Given the description of an element on the screen output the (x, y) to click on. 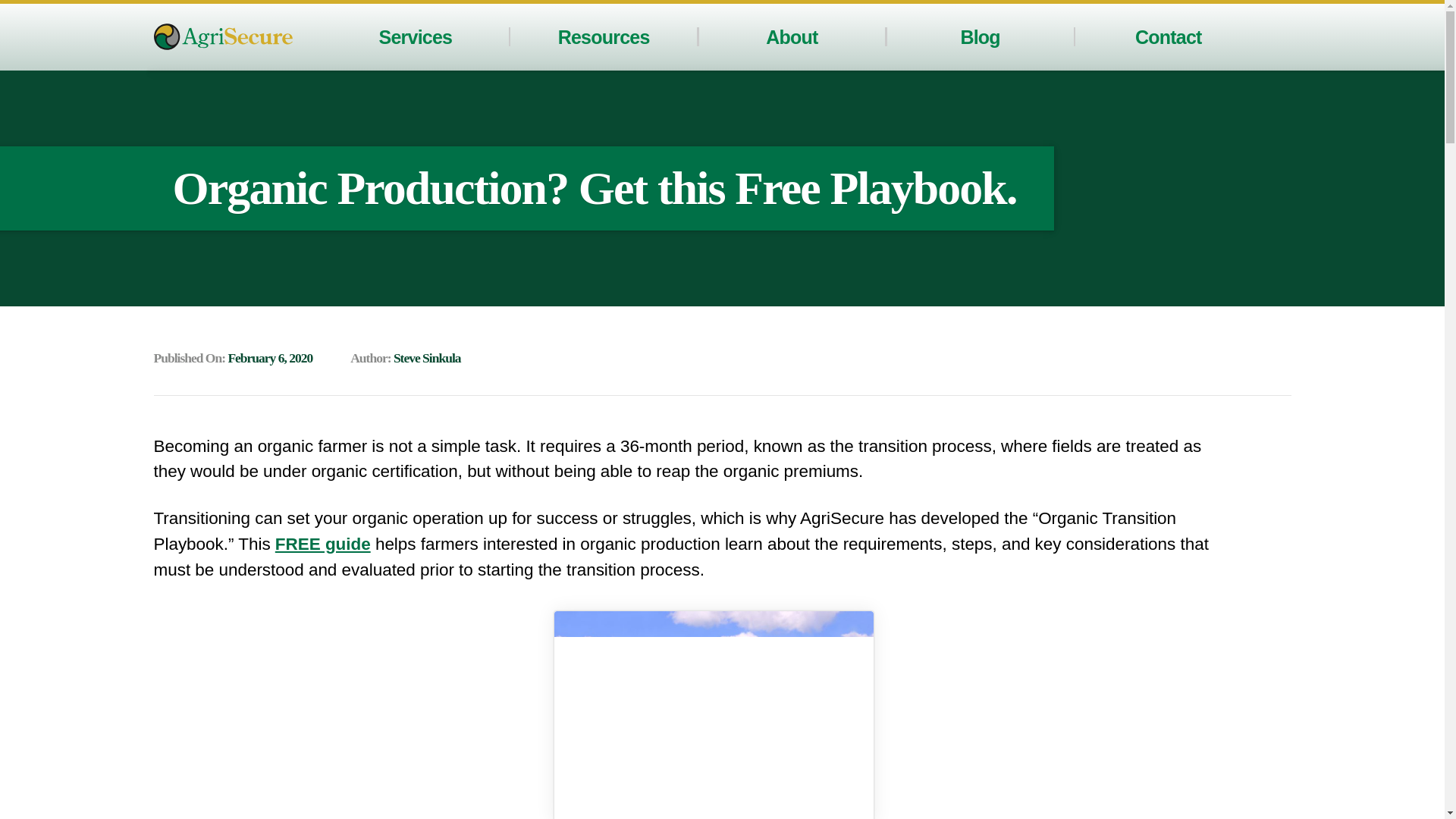
Resources (603, 37)
Blog (978, 37)
Blog (978, 37)
Resources (603, 37)
Services (415, 37)
AgriSecure (222, 36)
FREE guide (323, 544)
About (790, 37)
Services (415, 37)
Contact (1168, 37)
About (790, 37)
Contact (1168, 37)
